Given the description of an element on the screen output the (x, y) to click on. 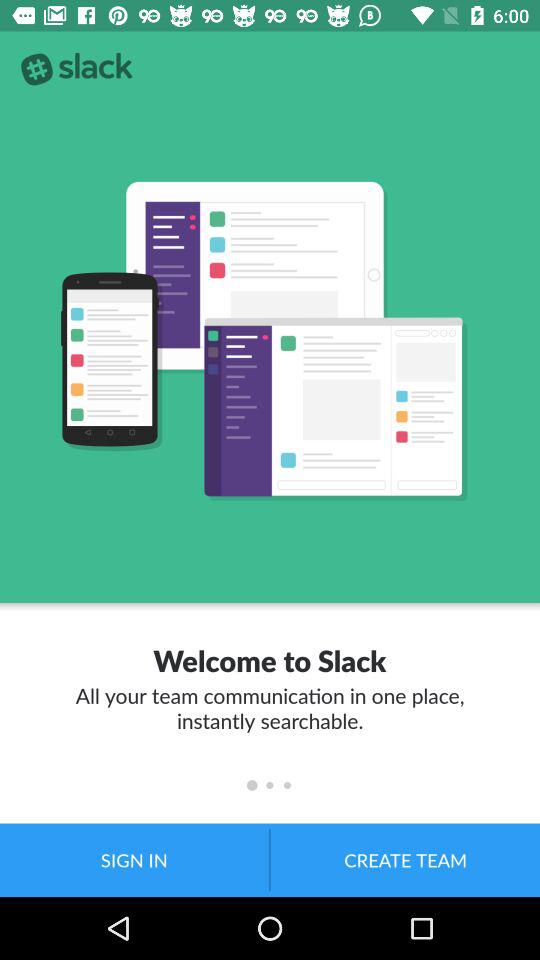
turn off the create team at the bottom right corner (405, 859)
